Given the description of an element on the screen output the (x, y) to click on. 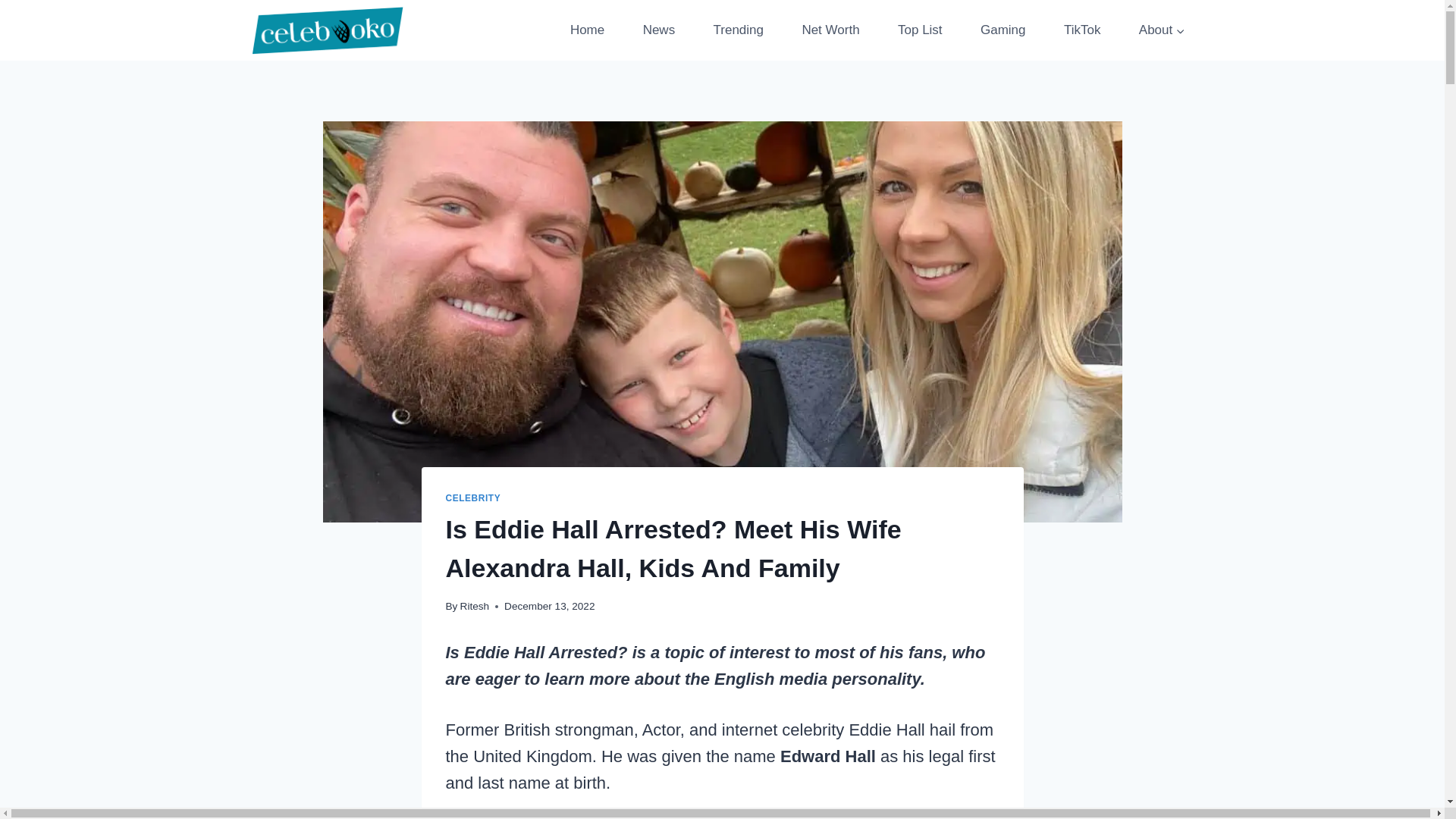
CELEBRITY (472, 498)
Ritesh (474, 605)
TikTok (1082, 30)
About (1162, 30)
Net Worth (830, 30)
News (658, 30)
Top List (919, 30)
Gaming (1002, 30)
Trending (737, 30)
Home (587, 30)
